Given the description of an element on the screen output the (x, y) to click on. 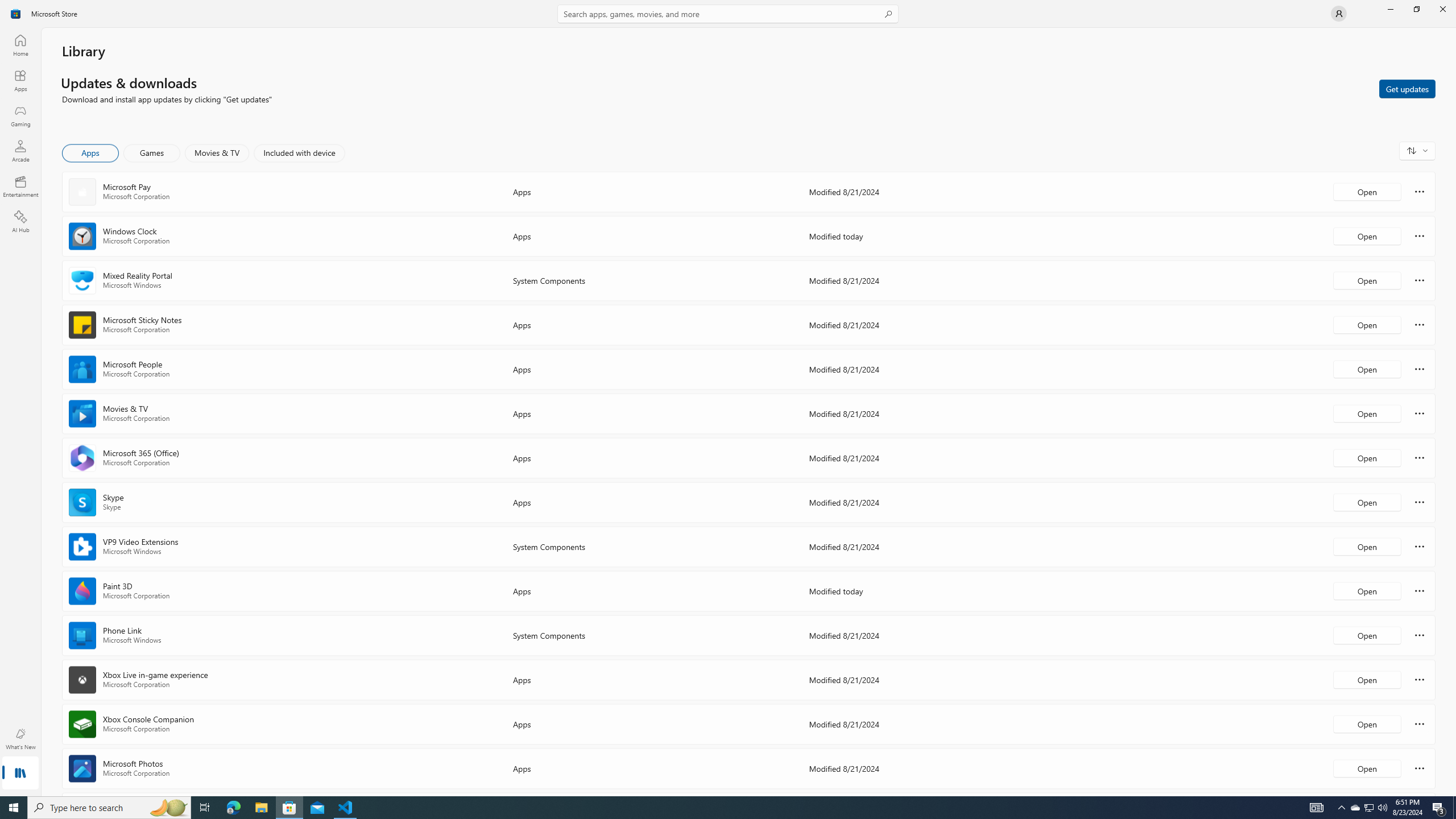
Sort and filter (1417, 149)
Home (20, 45)
Included with device (299, 153)
Search (727, 13)
Class: Image (15, 13)
Gaming (20, 115)
Arcade (20, 150)
Close Microsoft Store (1442, 9)
